Given the description of an element on the screen output the (x, y) to click on. 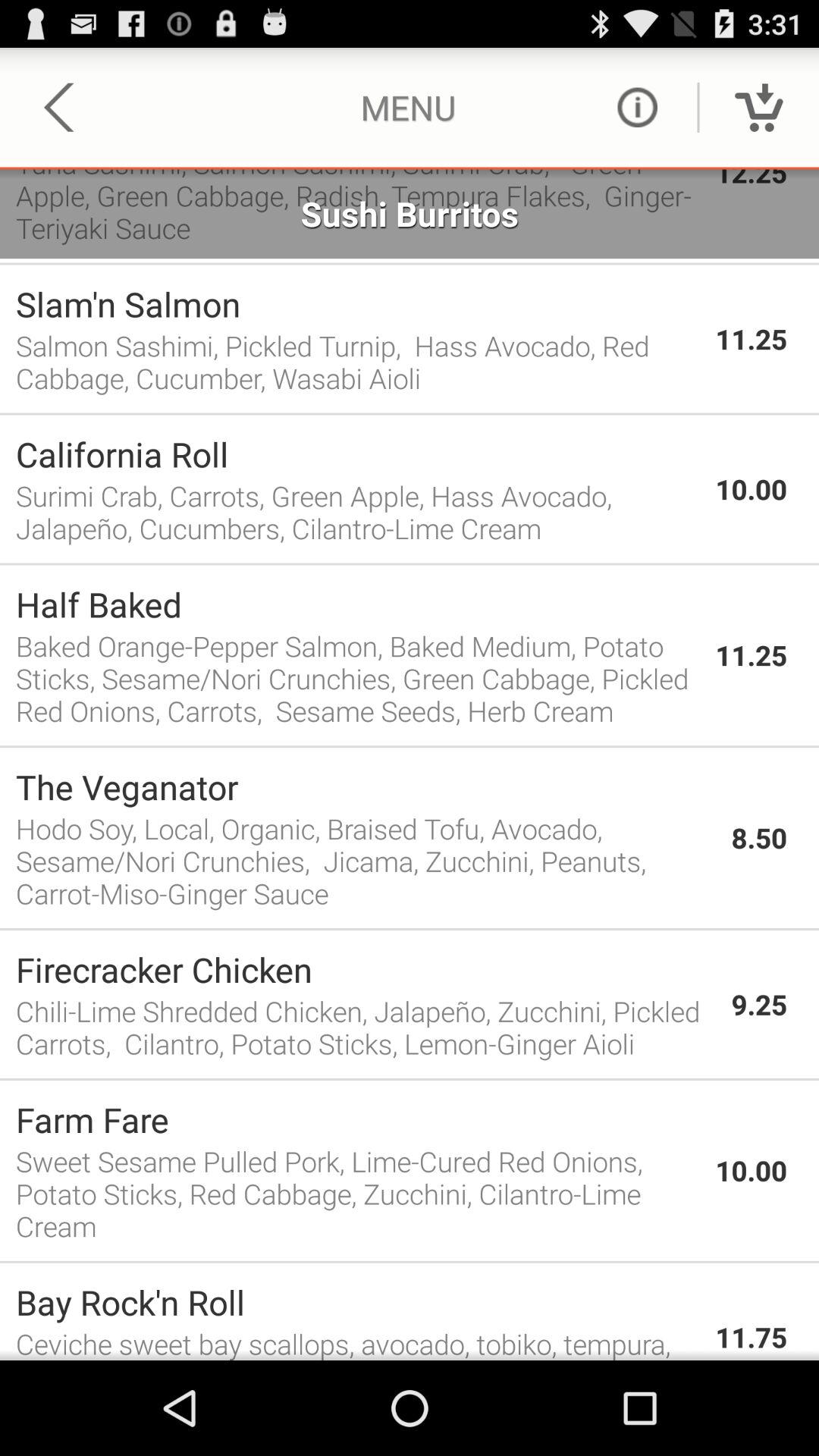
turn on the item above slam'n salmon app (409, 263)
